Given the description of an element on the screen output the (x, y) to click on. 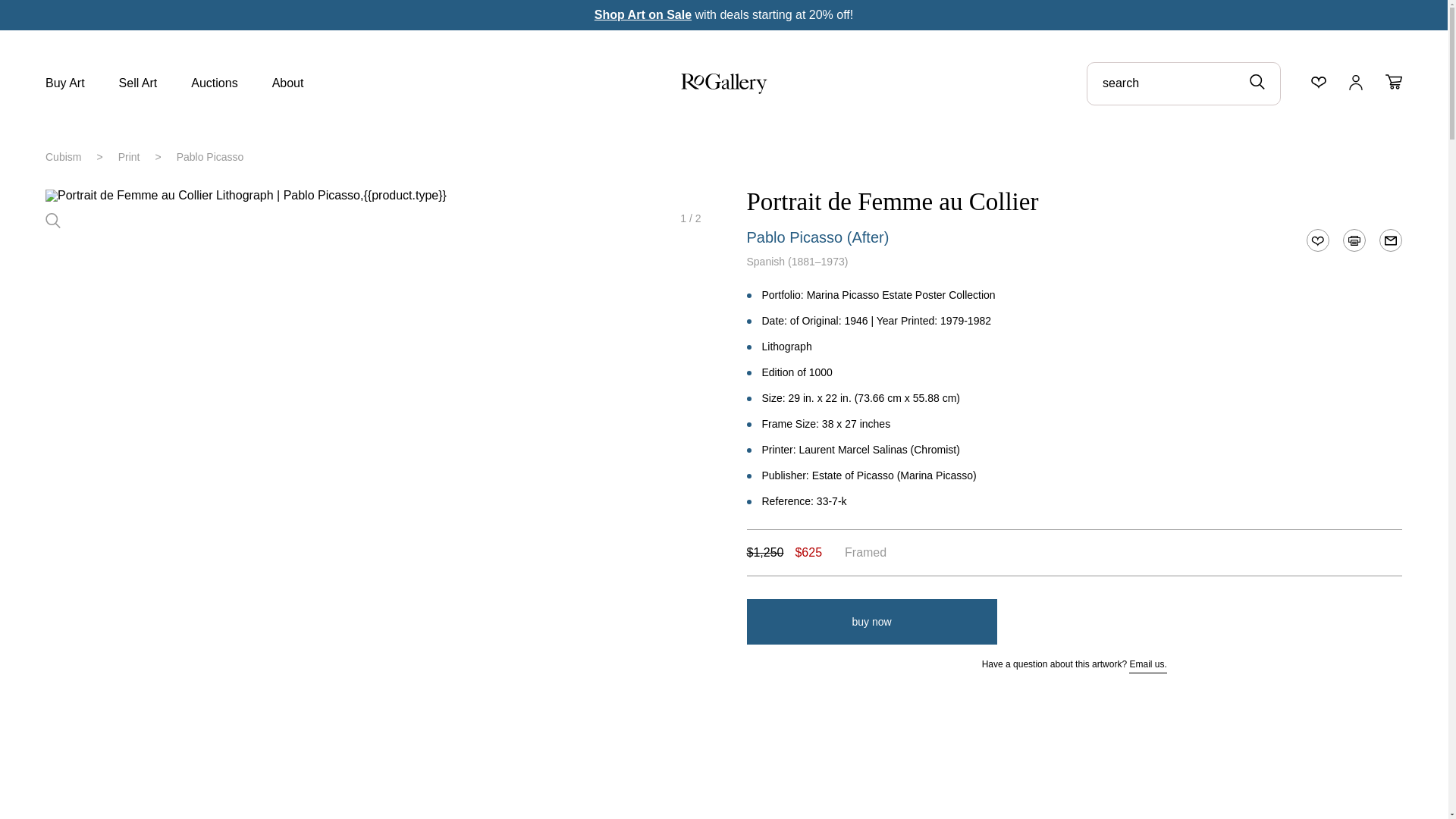
Buy Art (64, 84)
Cart (1394, 81)
Go to homepage (722, 89)
email this page (1391, 239)
RoGallery (722, 83)
Shop Art on Sale (642, 14)
Account (1355, 81)
Favorite (1317, 240)
